Given the description of an element on the screen output the (x, y) to click on. 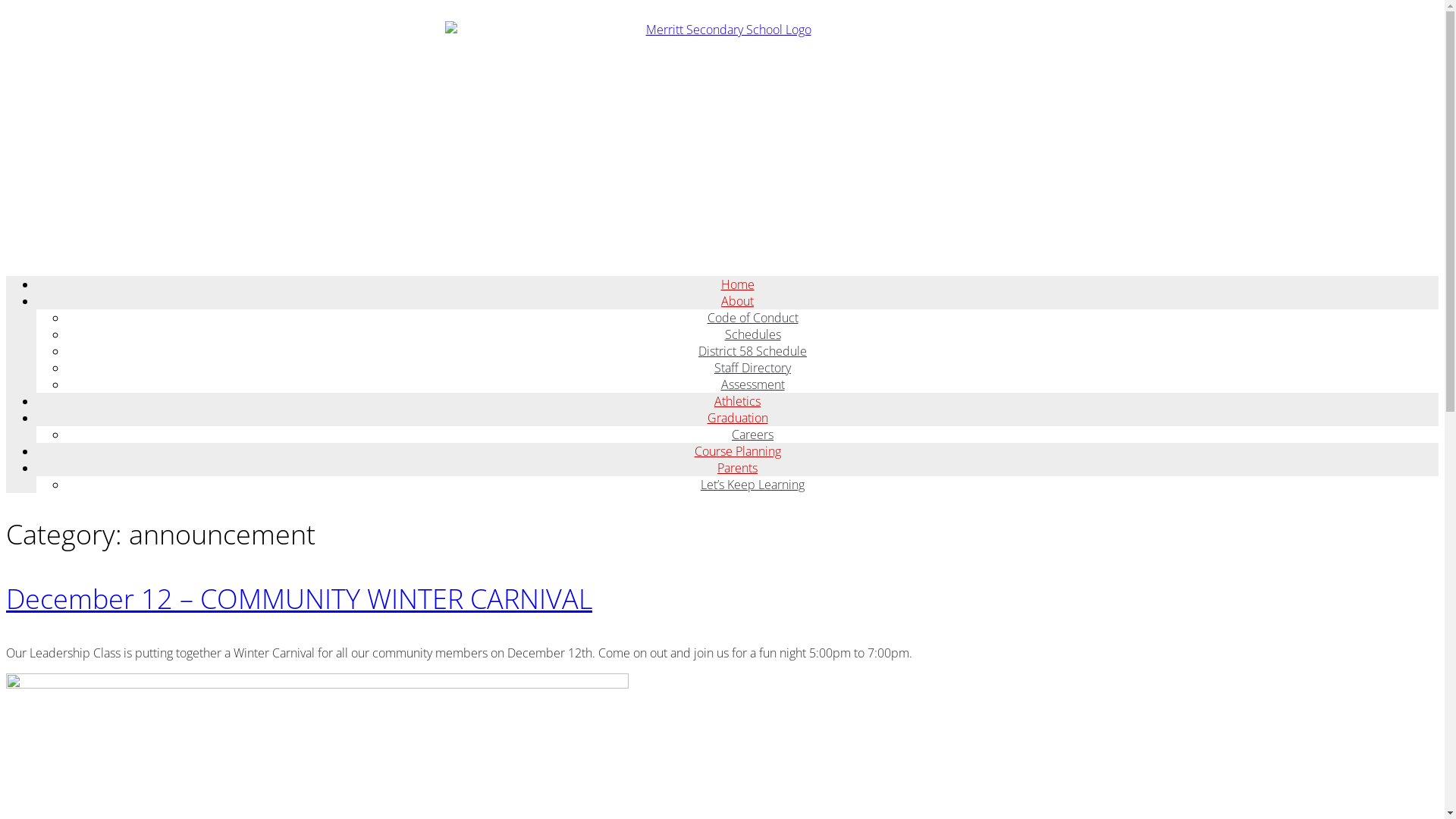
Merritt Secondary School Element type: hover (722, 134)
Schedules Element type: text (752, 334)
Code of Conduct Element type: text (751, 317)
About Element type: text (737, 300)
Athletics Element type: text (737, 400)
Home Element type: text (736, 284)
Assessment Element type: text (752, 384)
Careers Element type: text (752, 434)
Course Planning Element type: text (737, 450)
Staff Directory Element type: text (752, 367)
Parents Element type: text (737, 467)
Graduation Element type: text (736, 417)
District 58 Schedule Element type: text (752, 350)
